Given the description of an element on the screen output the (x, y) to click on. 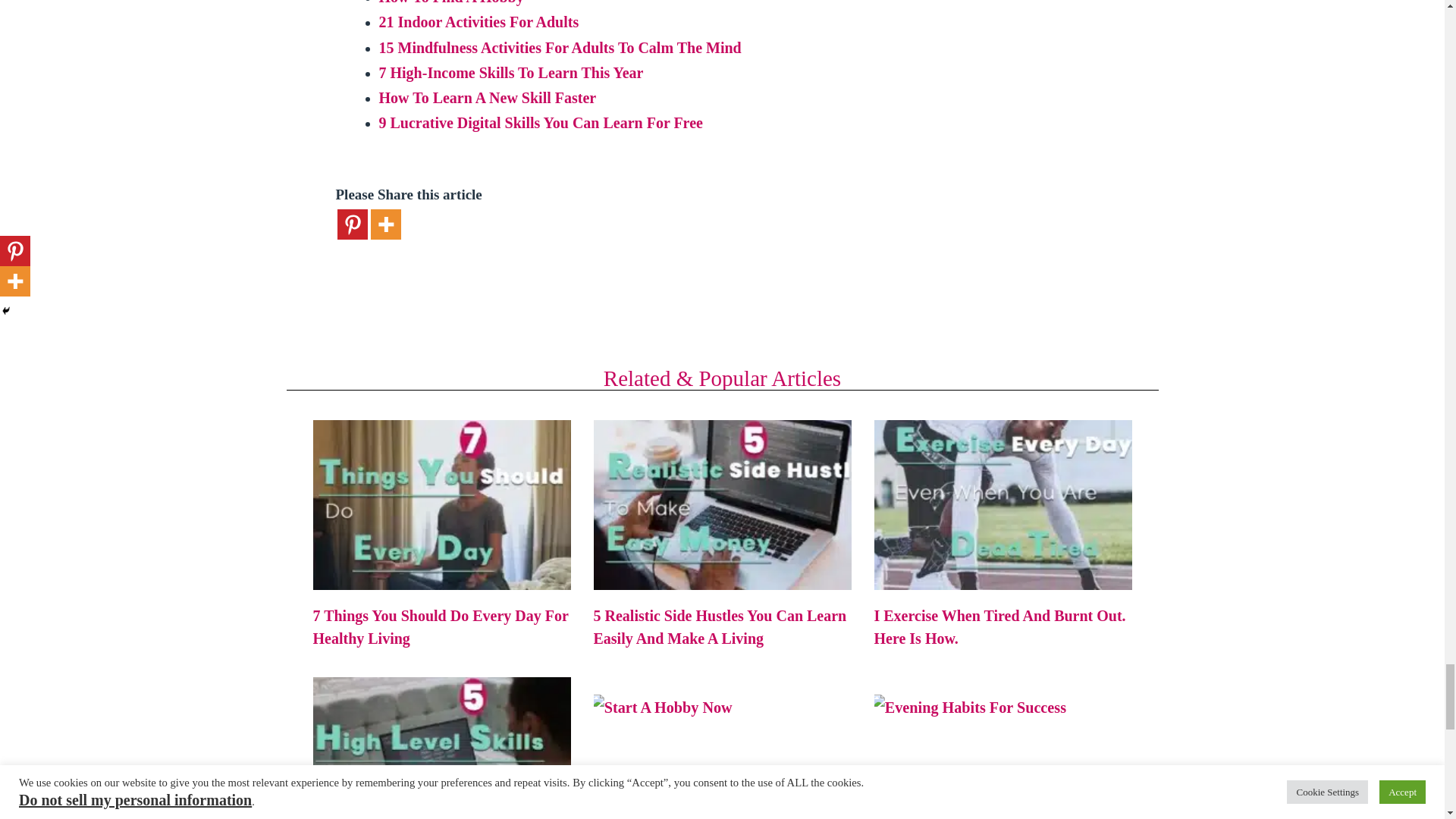
Pinterest (351, 224)
9 Lucrative Digital Skills You Can Learn For Free (540, 122)
15 Mindfulness Activities For Adults To Calm The Mind (559, 47)
How To Learn A New Skill Faster (487, 97)
7 High-Income Skills To Learn This Year (510, 72)
21 Indoor Activities For Adults (478, 21)
More (384, 224)
How To Find A Hobby (451, 2)
